Given the description of an element on the screen output the (x, y) to click on. 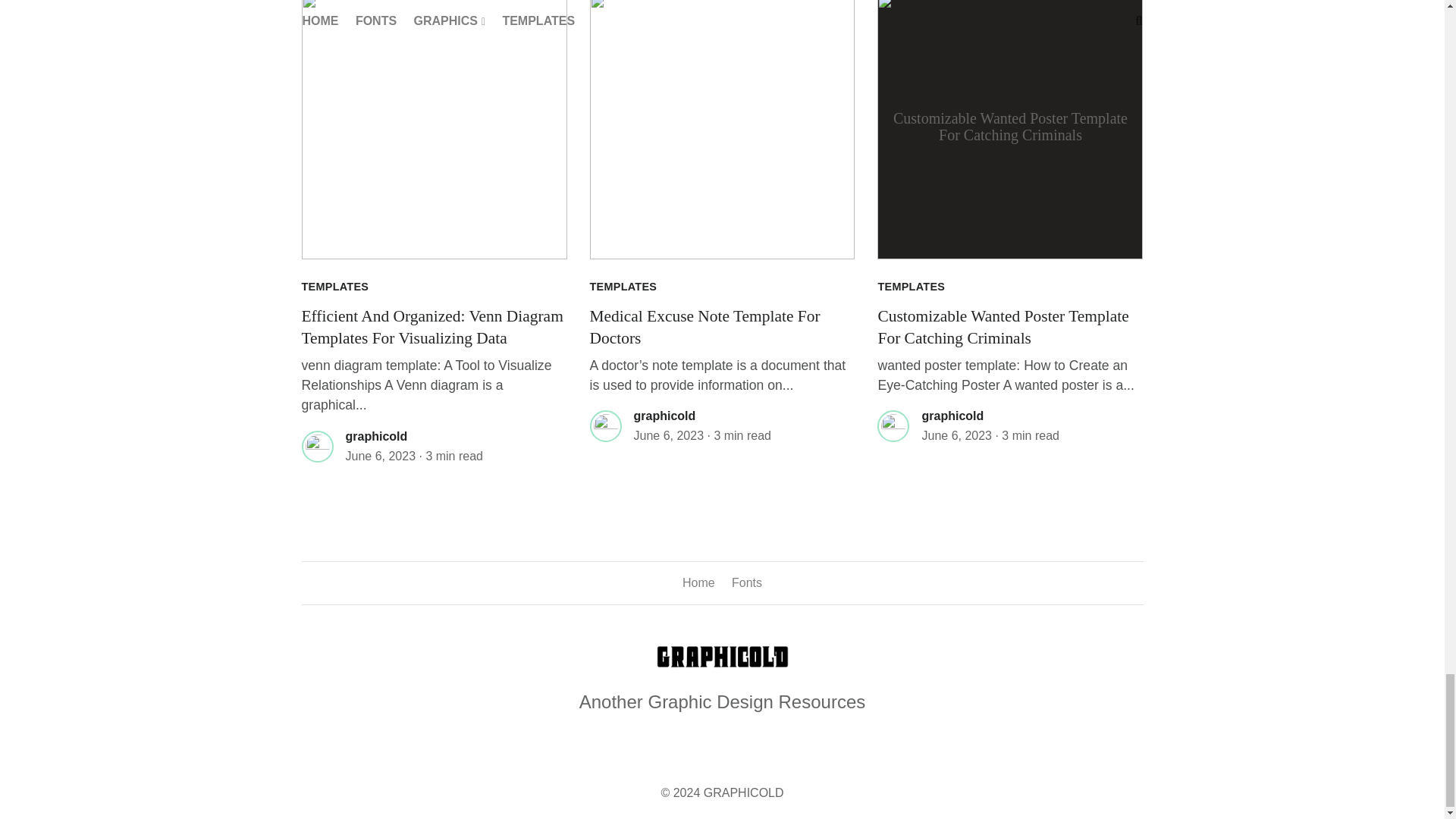
Posts by graphicold (664, 415)
Posts by graphicold (952, 415)
Posts by graphicold (376, 436)
